Given the description of an element on the screen output the (x, y) to click on. 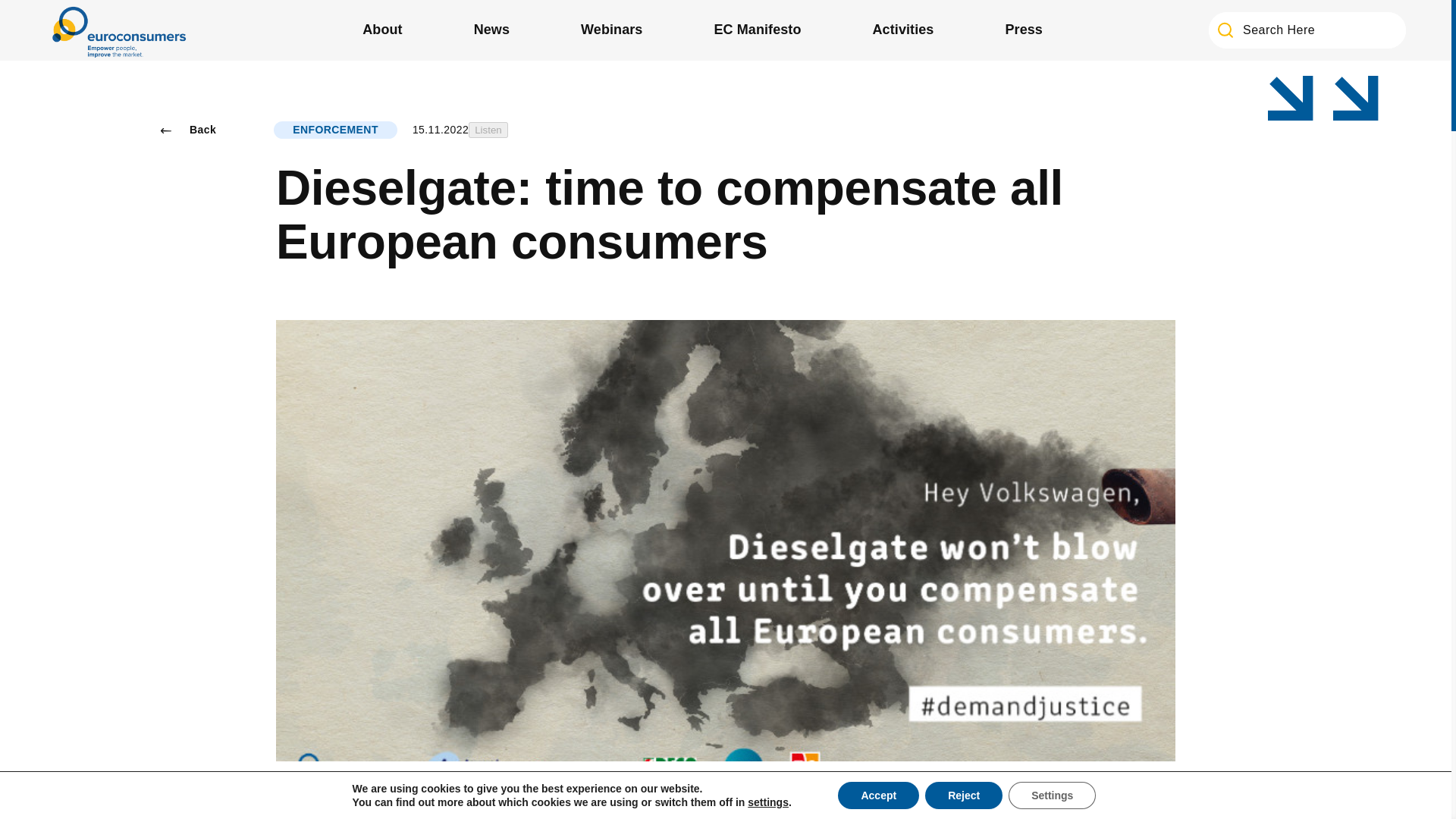
Back (187, 129)
EC Manifesto (756, 29)
Activities (902, 29)
Press (1023, 29)
Webinars (611, 29)
About (381, 29)
News (492, 29)
